Given the description of an element on the screen output the (x, y) to click on. 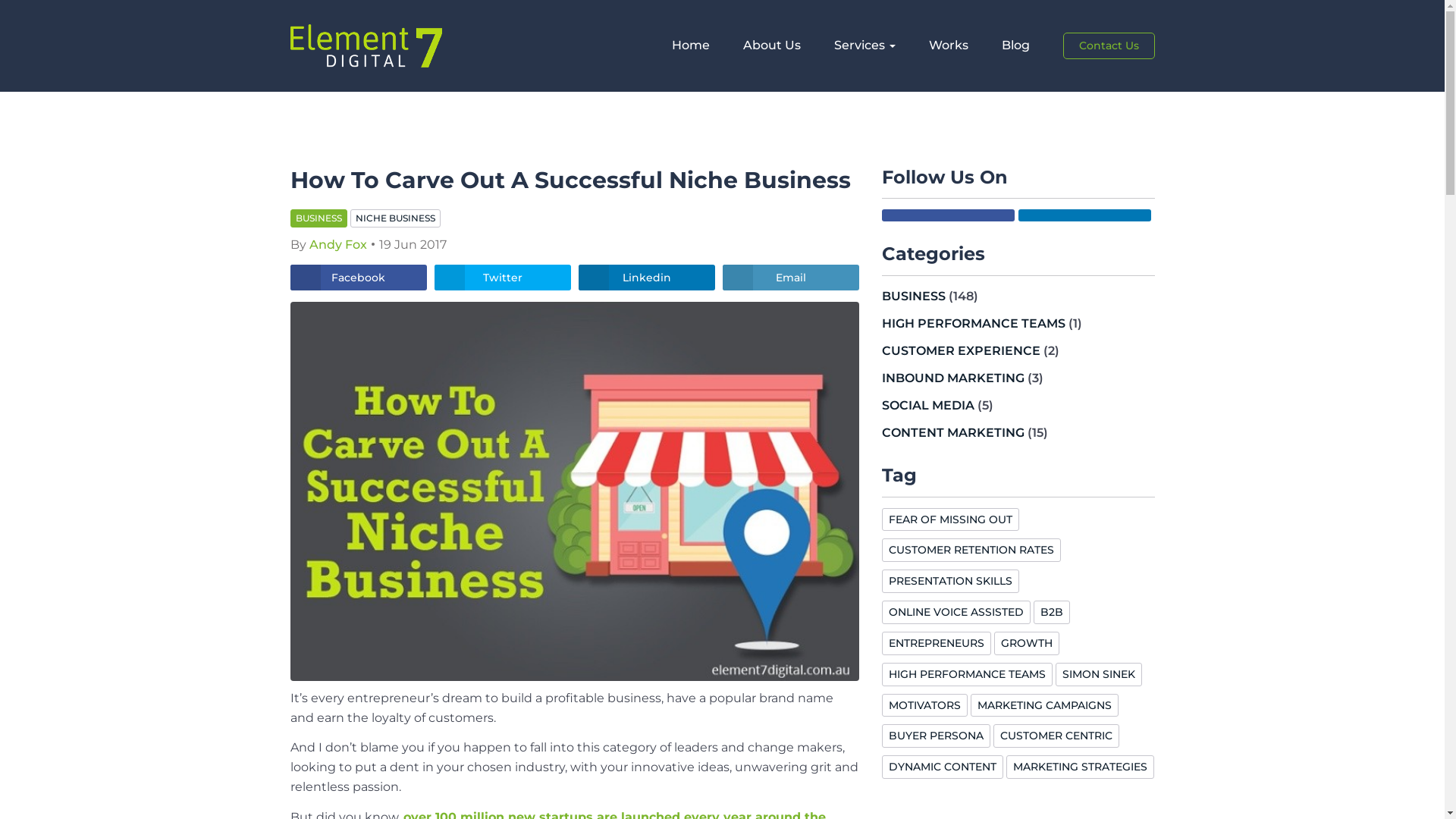
MARKETING CAMPAIGNS Element type: text (1044, 705)
MARKETING STRATEGIES Element type: text (1079, 766)
NICHE BUSINESS Element type: text (395, 218)
CUSTOMER RETENTION RATES Element type: text (970, 549)
HIGH PERFORMANCE TEAMS Element type: text (972, 323)
Linkedin Element type: text (645, 277)
CUSTOMER CENTRIC Element type: text (1056, 735)
Blog Element type: text (1014, 45)
CUSTOMER EXPERIENCE Element type: text (960, 350)
BUSINESS Element type: text (317, 218)
Facebook Element 7 Digital Element type: hover (947, 215)
GROWTH Element type: text (1025, 643)
FEAR OF MISSING OUT Element type: text (949, 519)
Email Element type: text (789, 277)
Contact Us Element type: text (1108, 45)
Twitter Element type: text (501, 277)
ENTREPRENEURS Element type: text (935, 643)
CONTENT MARKETING Element type: text (952, 432)
DYNAMIC CONTENT Element type: text (941, 766)
Works Element type: text (947, 45)
About Us Element type: text (771, 45)
HIGH PERFORMANCE TEAMS Element type: text (966, 674)
Element 7 Digital Element type: hover (365, 45)
PRESENTATION SKILLS Element type: text (949, 581)
BUSINESS Element type: text (912, 295)
Home Element type: text (690, 45)
Linkedin for Element 7 Digital Element type: hover (1083, 215)
Services Element type: text (864, 45)
SIMON SINEK Element type: text (1098, 674)
B2B Element type: text (1050, 612)
BUYER PERSONA Element type: text (935, 735)
Facebook Element type: text (357, 277)
ONLINE VOICE ASSISTED Element type: text (955, 612)
SOCIAL MEDIA Element type: text (927, 405)
INBOUND MARKETING Element type: text (952, 377)
MOTIVATORS Element type: text (923, 705)
